Given the description of an element on the screen output the (x, y) to click on. 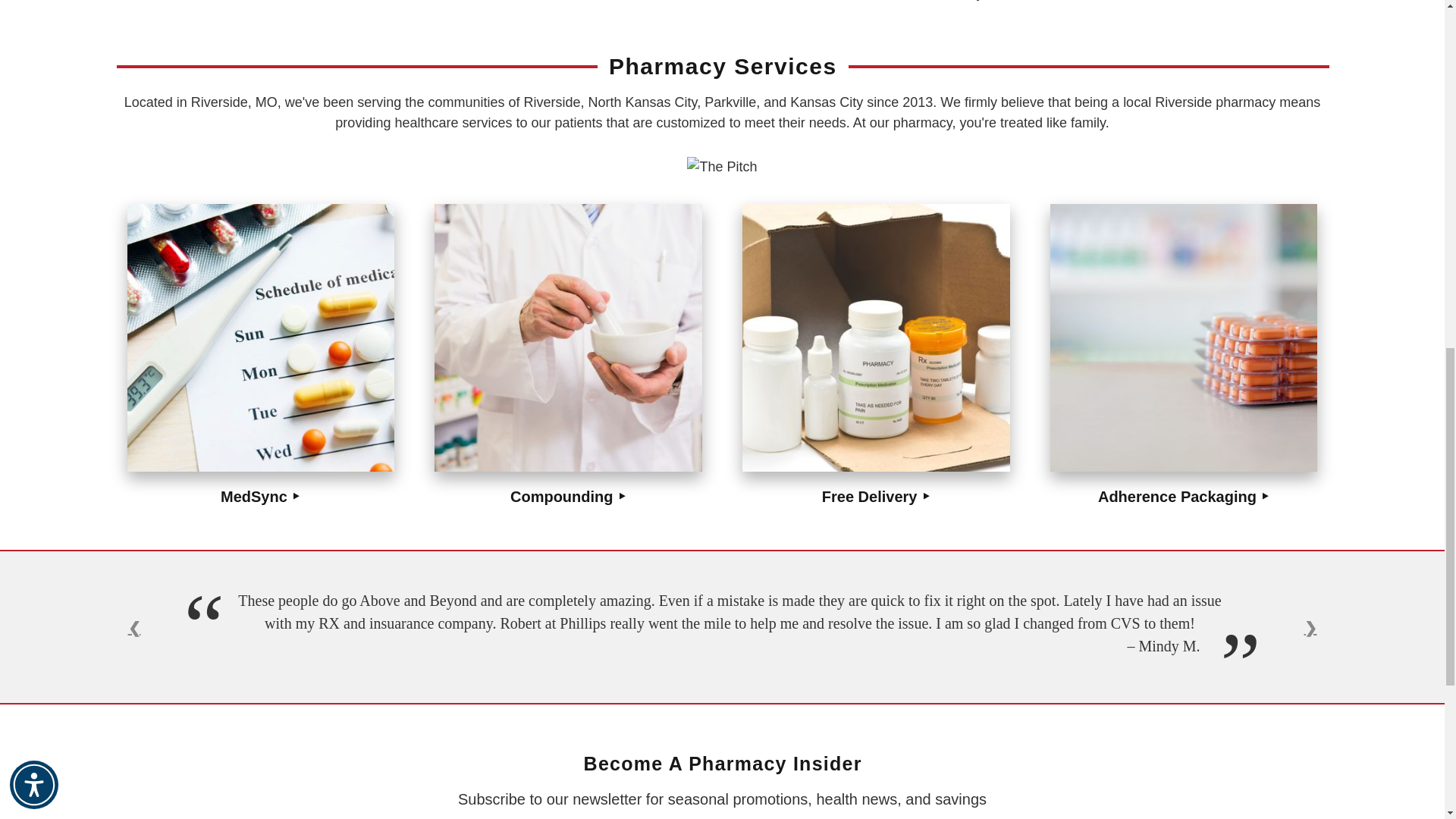
Best of Kansas City 2020 - Voted Best Pharmacy (722, 167)
